Given the description of an element on the screen output the (x, y) to click on. 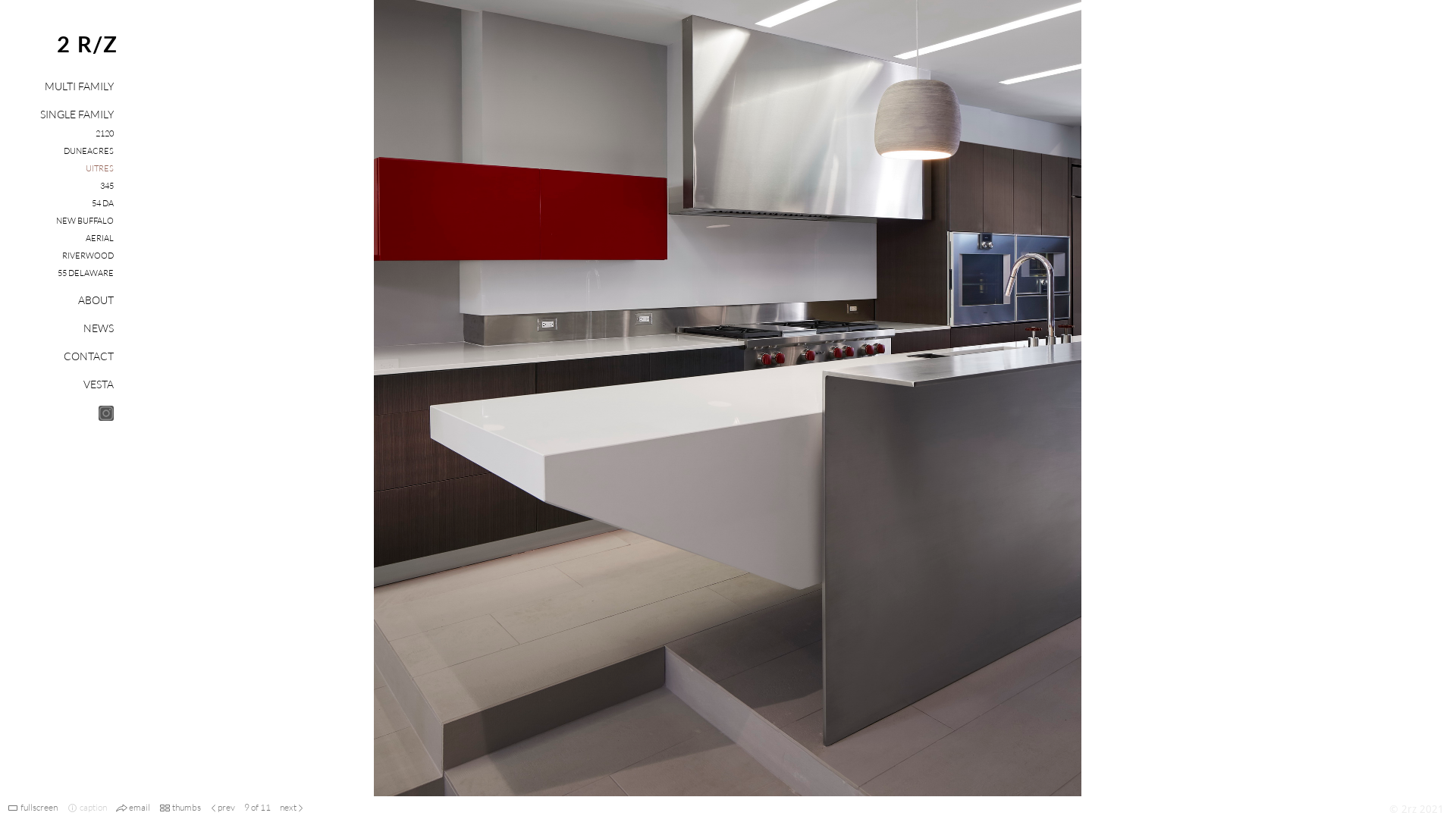
caption Element type: text (92, 806)
MULTI FAMILY Element type: text (78, 85)
54 DA Element type: text (102, 202)
RIVERWOOD Element type: text (87, 255)
9 of 11 Element type: text (257, 806)
345 Element type: text (106, 185)
SINGLE FAMILY Element type: text (76, 113)
AERIAL Element type: text (99, 237)
thumbs Element type: text (186, 806)
ABOUT Element type: text (95, 299)
prev Element type: text (226, 806)
email Element type: text (139, 806)
DUNEACRES Element type: text (88, 150)
CONTACT Element type: text (88, 355)
VESTA Element type: text (98, 383)
next Element type: text (287, 806)
UITRES Element type: text (99, 168)
NEW BUFFALO Element type: text (84, 220)
NEWS Element type: text (98, 327)
2120 Element type: text (104, 133)
55 DELAWARE Element type: text (85, 272)
fullscreen Element type: text (38, 806)
